Given the description of an element on the screen output the (x, y) to click on. 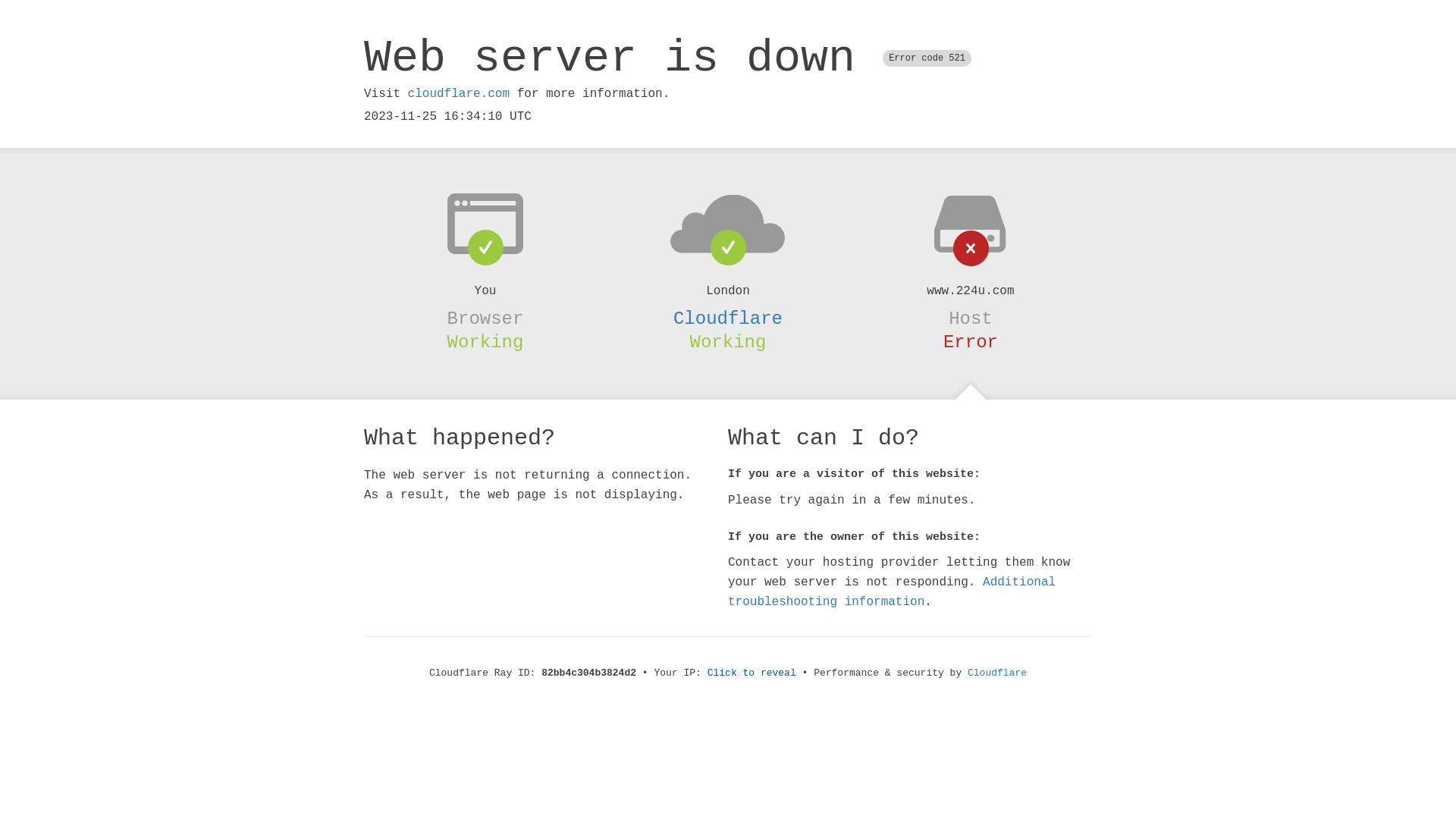
Click to reveal Element type: text (751, 672)
Additional troubleshooting information Element type: text (891, 591)
Cloudflare Element type: text (996, 672)
cloudflare.com Element type: text (458, 93)
Cloudflare Element type: text (727, 318)
